Given the description of an element on the screen output the (x, y) to click on. 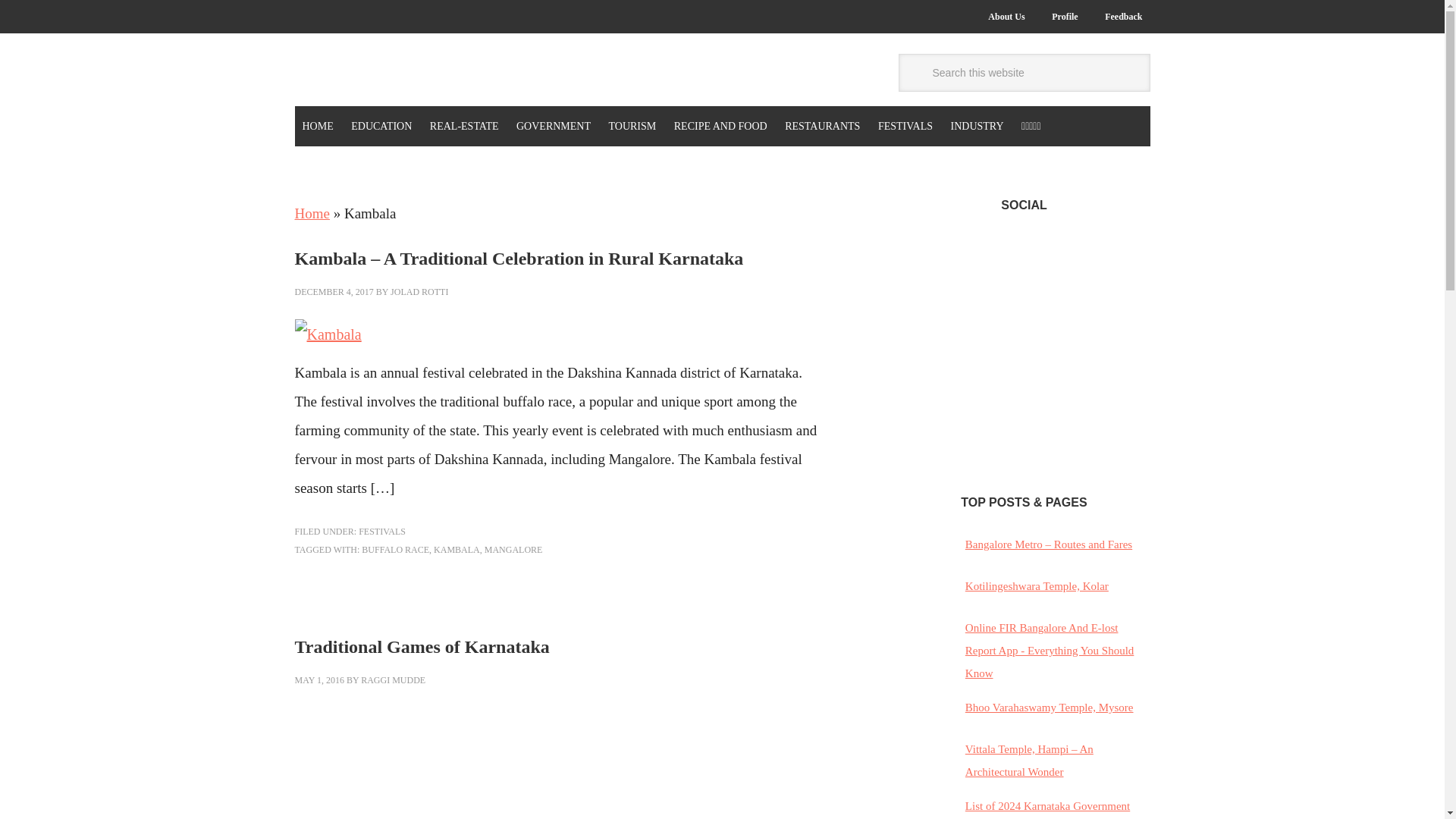
Feedback (1123, 16)
RECIPE AND FOOD (720, 126)
Home (311, 213)
BUFFALO RACE (395, 549)
Kotilingeshwara Temple, Kolar (1036, 585)
FESTIVALS (382, 531)
INDUSTRY (977, 126)
RESTAURANTS (822, 126)
Traditional Games of Karnataka (421, 646)
RAGGI MUDDE (393, 679)
